Given the description of an element on the screen output the (x, y) to click on. 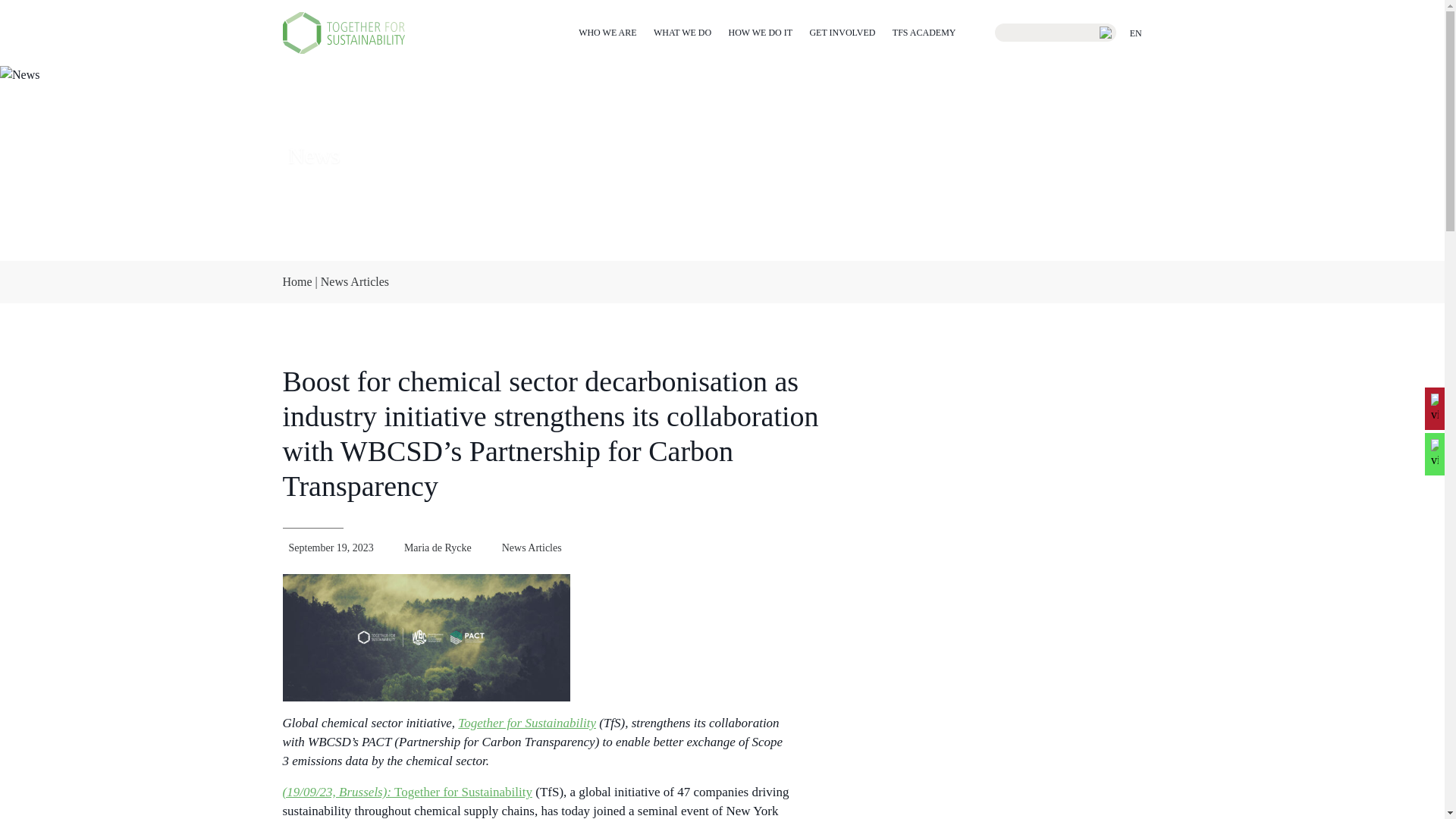
News Articles (354, 281)
Maria de Rycke (437, 548)
TFS ACADEMY (924, 32)
News Articles (532, 547)
HOW WE DO IT (761, 32)
WHAT WE DO (682, 32)
Together for Sustainability (526, 722)
EN (1141, 33)
Home (296, 281)
GET INVOLVED (842, 32)
